Given the description of an element on the screen output the (x, y) to click on. 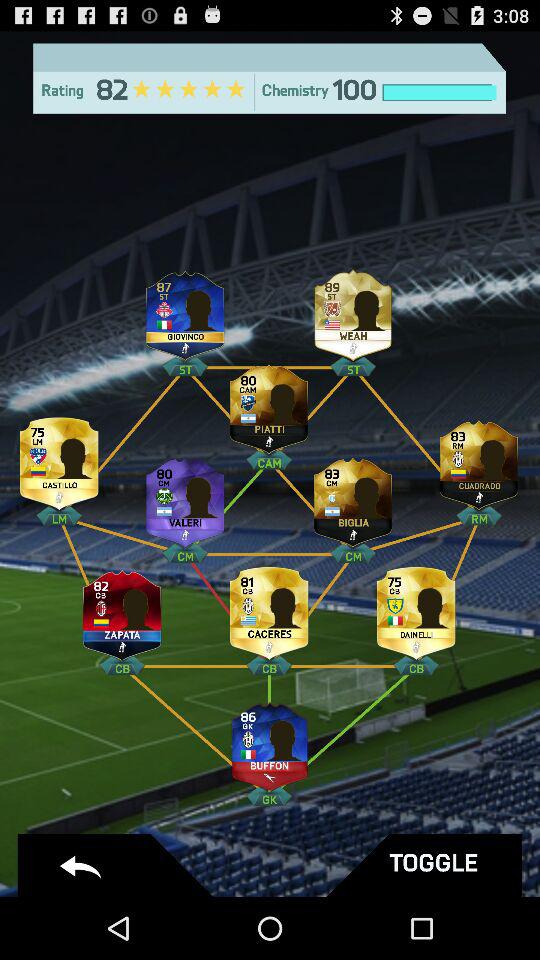
toggle zapata option (122, 609)
